Given the description of an element on the screen output the (x, y) to click on. 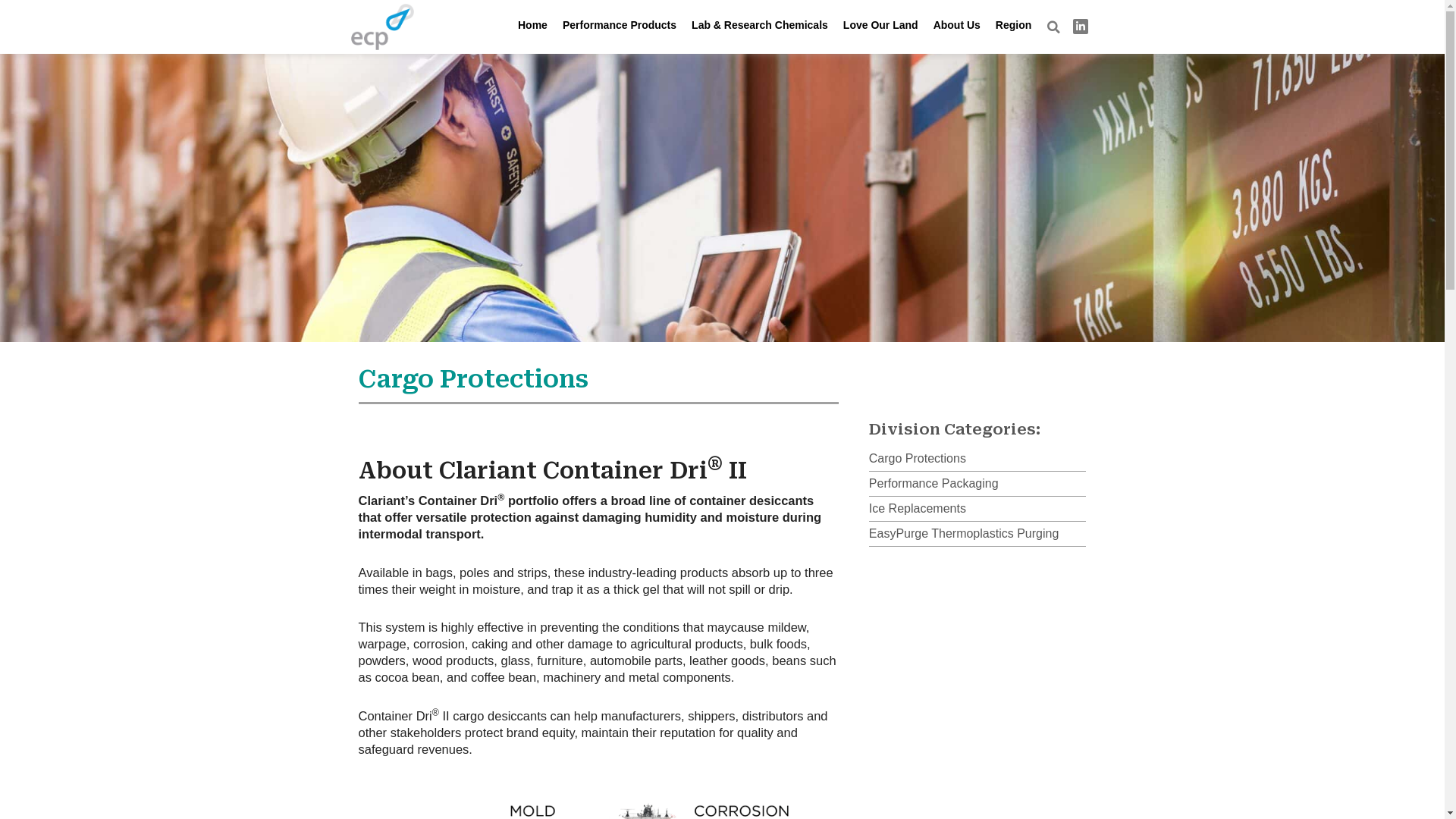
Ice Replacements Element type: text (977, 508)
Lab & Research Chemicals Element type: text (759, 26)
EasyPurge Thermoplastics Purging Element type: text (977, 533)
Cargo Protections Element type: text (977, 458)
Performance Packaging Element type: text (977, 483)
Region Element type: text (1013, 26)
About Us Element type: text (956, 26)
Performance Products Element type: text (619, 26)
Love Our Land Element type: text (880, 26)
Home Element type: text (532, 26)
